Given the description of an element on the screen output the (x, y) to click on. 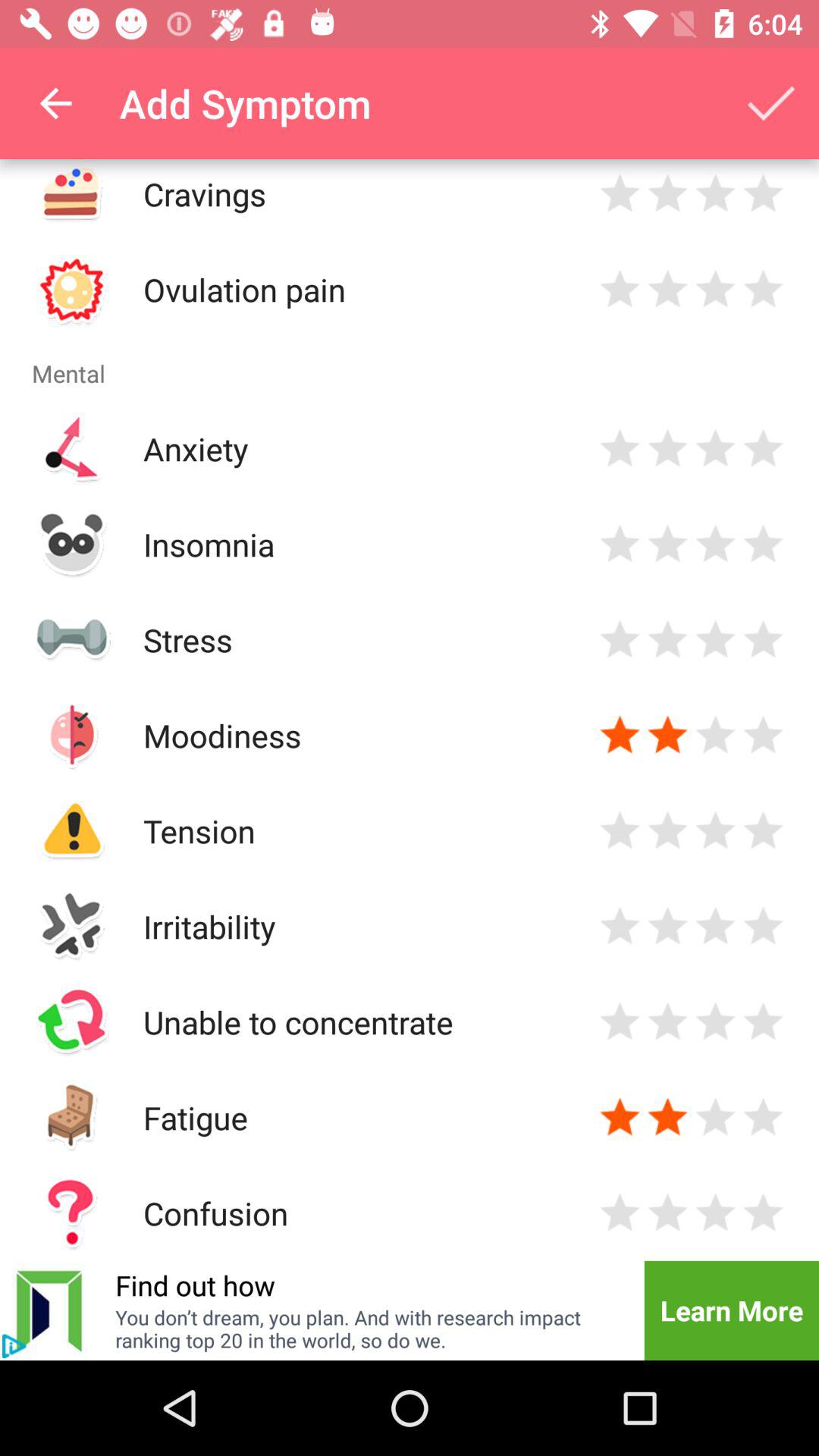
select 1 star for cravings (619, 193)
